Given the description of an element on the screen output the (x, y) to click on. 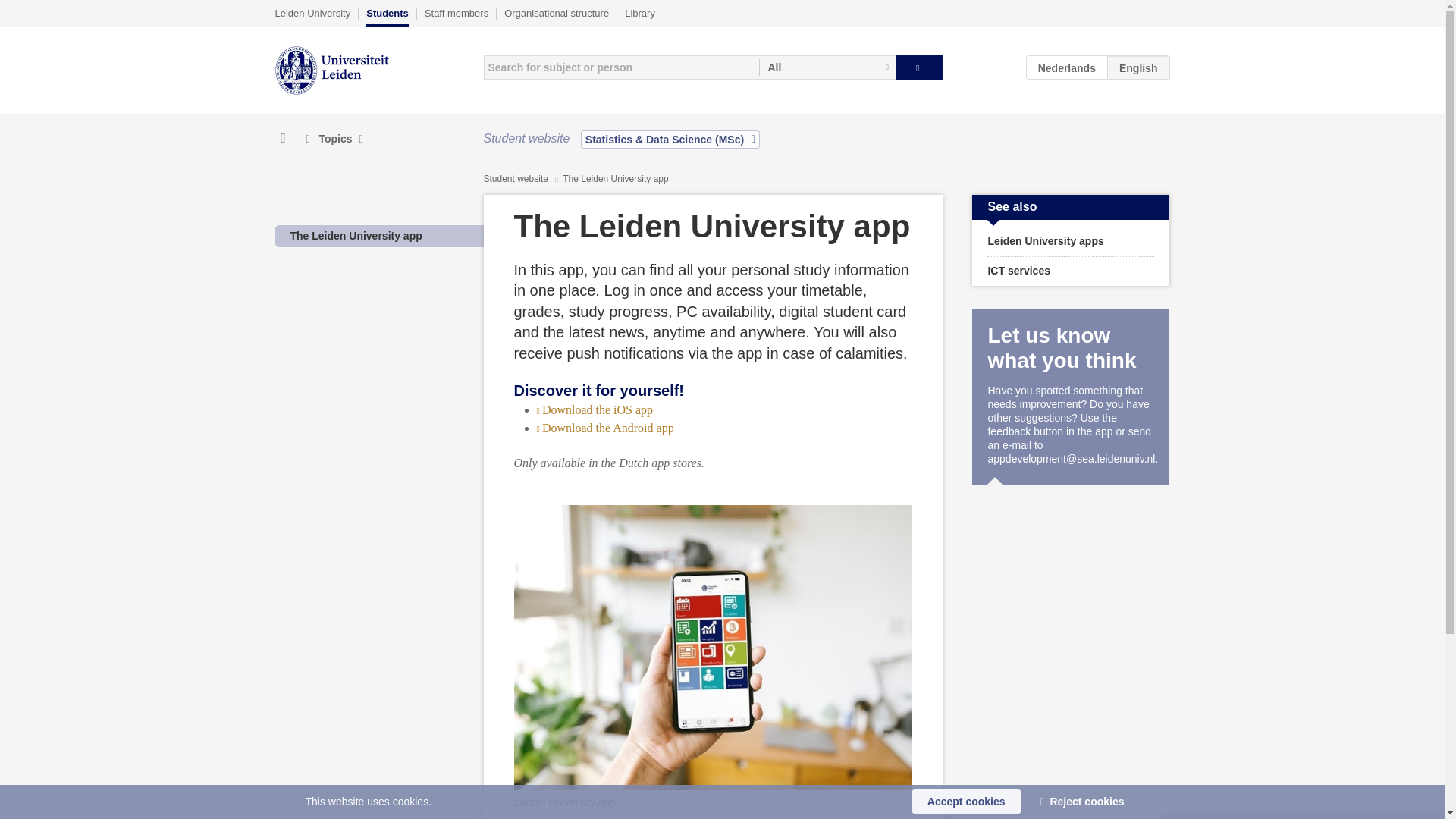
Search (919, 67)
All (827, 67)
Library (639, 13)
Organisational structure (555, 13)
Staff members (456, 13)
Leiden University (312, 13)
Topics (333, 139)
The Leiden University app (355, 235)
Students (387, 17)
NL (1067, 67)
